Given the description of an element on the screen output the (x, y) to click on. 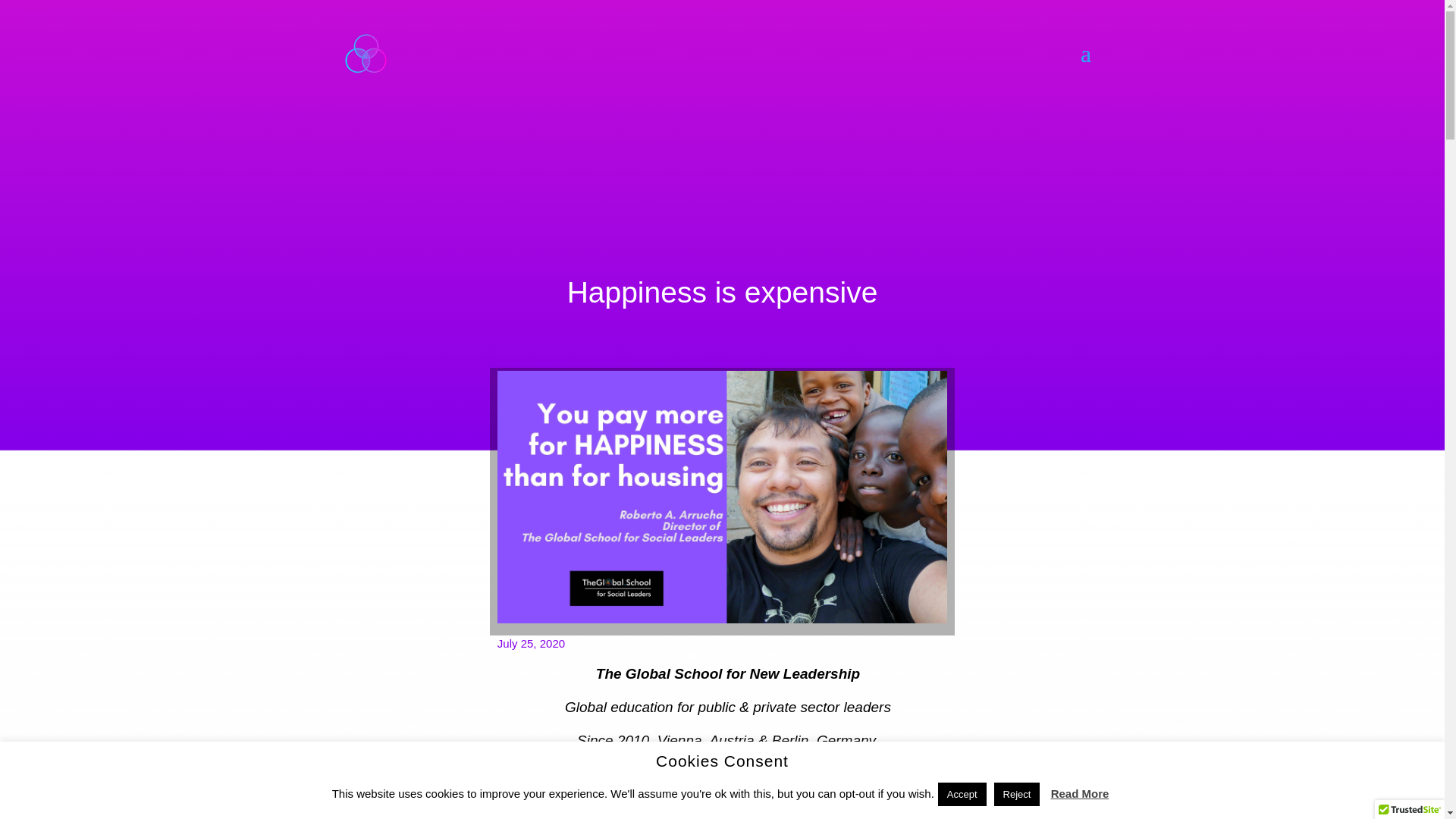
Accept (962, 793)
Happiness is expensive (722, 497)
Reject (1017, 793)
Follow on LinkedIn (766, 814)
Read More (1080, 793)
Follow on X (706, 814)
Follow on Youtube (737, 814)
Follow on Instagram (675, 814)
